Given the description of an element on the screen output the (x, y) to click on. 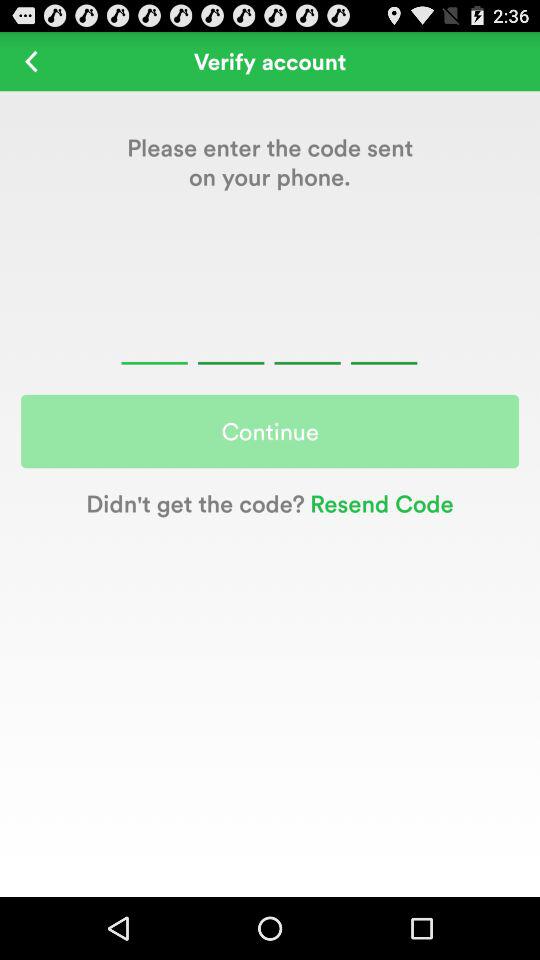
a four-digit field where a numerical verification code is entered (269, 339)
